Given the description of an element on the screen output the (x, y) to click on. 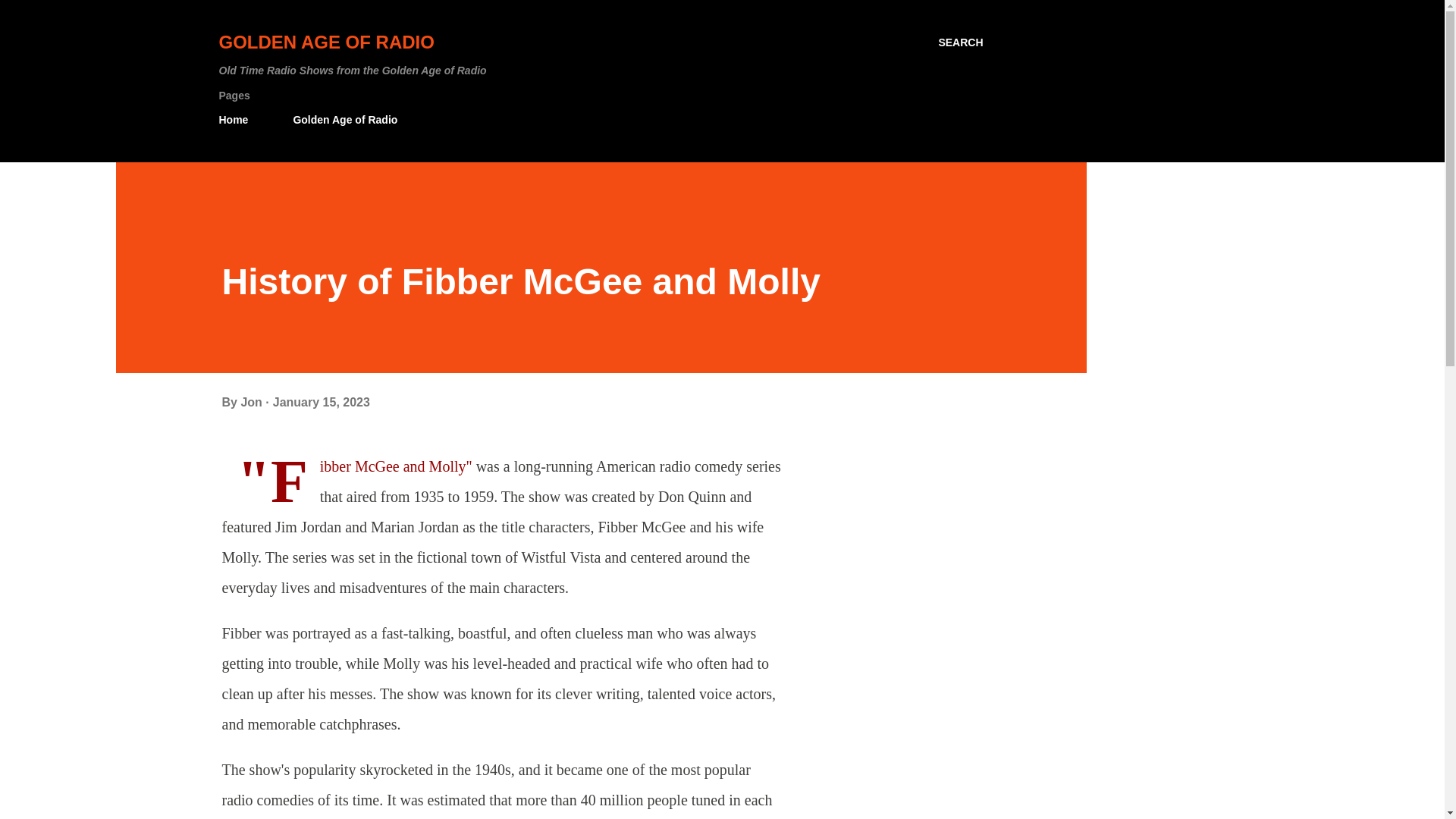
GOLDEN AGE OF RADIO (325, 41)
 "Fibber McGee and Molly" (395, 466)
Golden Age of Radio (344, 119)
January 15, 2023 (321, 401)
SEARCH (959, 42)
Home (237, 119)
permanent link (321, 401)
